Given the description of an element on the screen output the (x, y) to click on. 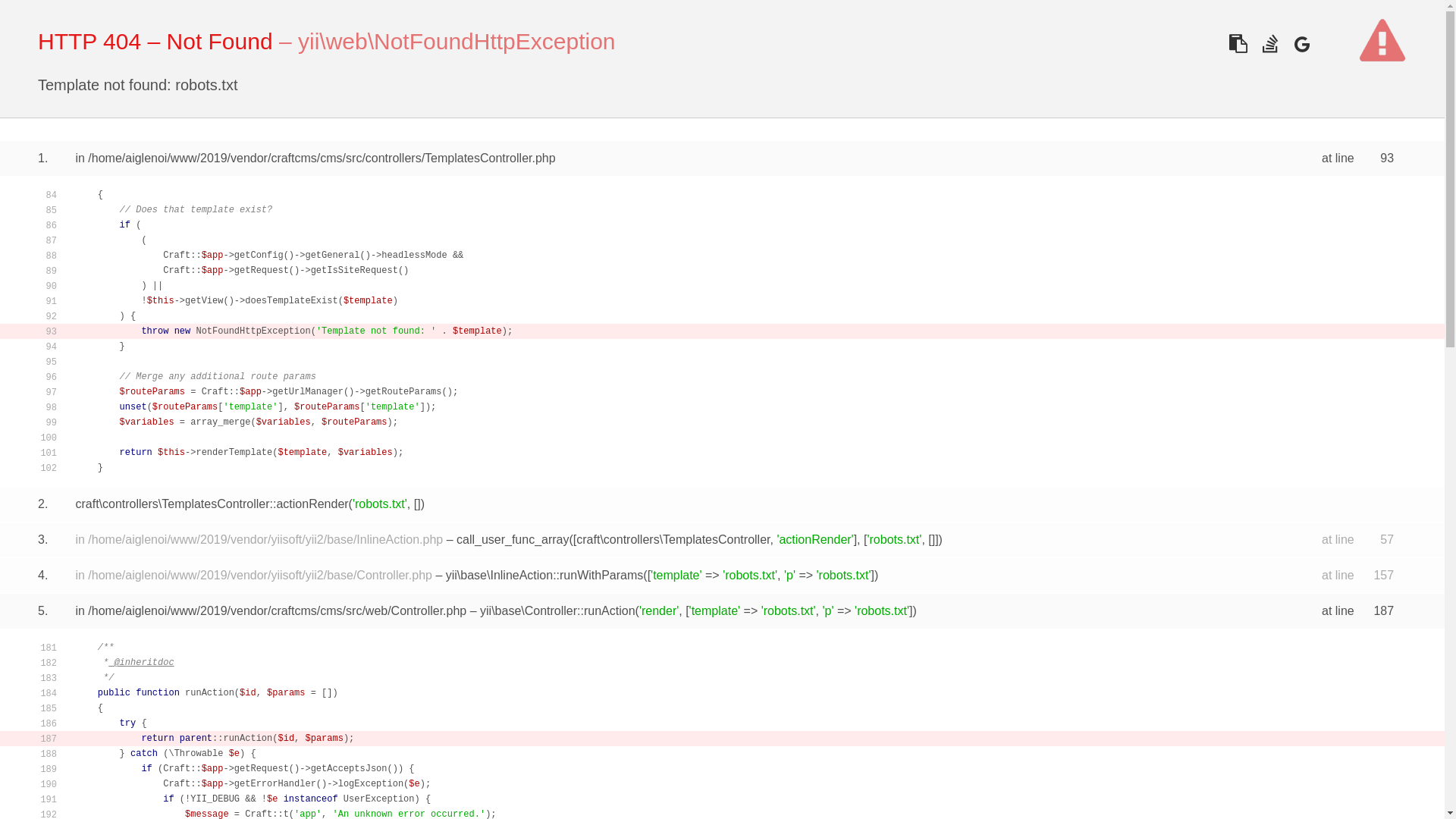
Search error on Google Element type: hover (1301, 43)
Copy the stacktrace for use in a bug report or pastebin Element type: hover (1237, 43)
Search error on Stackoverflow Element type: hover (1269, 43)
yii\web\NotFoundHttpException Element type: text (456, 40)
yii\base\InlineAction::runWithParams Element type: text (544, 574)
yii\base\Controller::runAction Element type: text (557, 610)
